Given the description of an element on the screen output the (x, y) to click on. 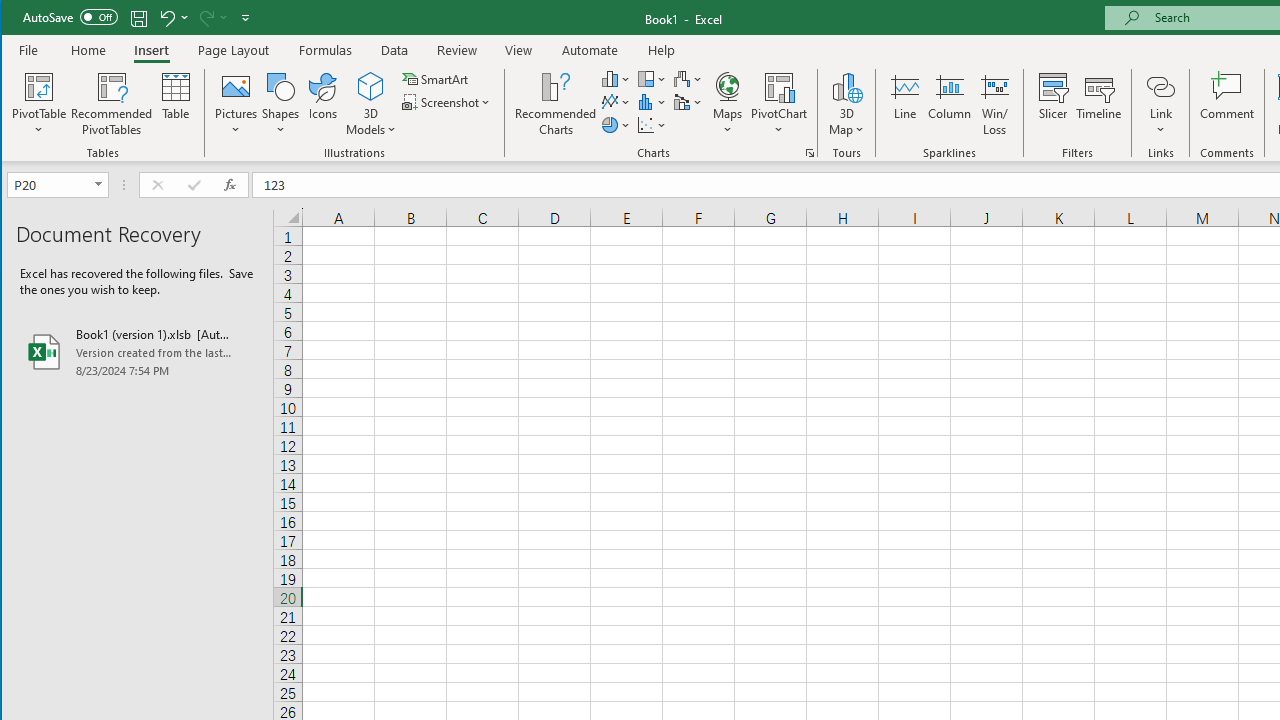
Insert Line or Area Chart (616, 101)
Slicer... (1052, 104)
Table (175, 104)
Link (1160, 86)
PivotTable (39, 86)
Maps (727, 104)
Line (904, 104)
